Given the description of an element on the screen output the (x, y) to click on. 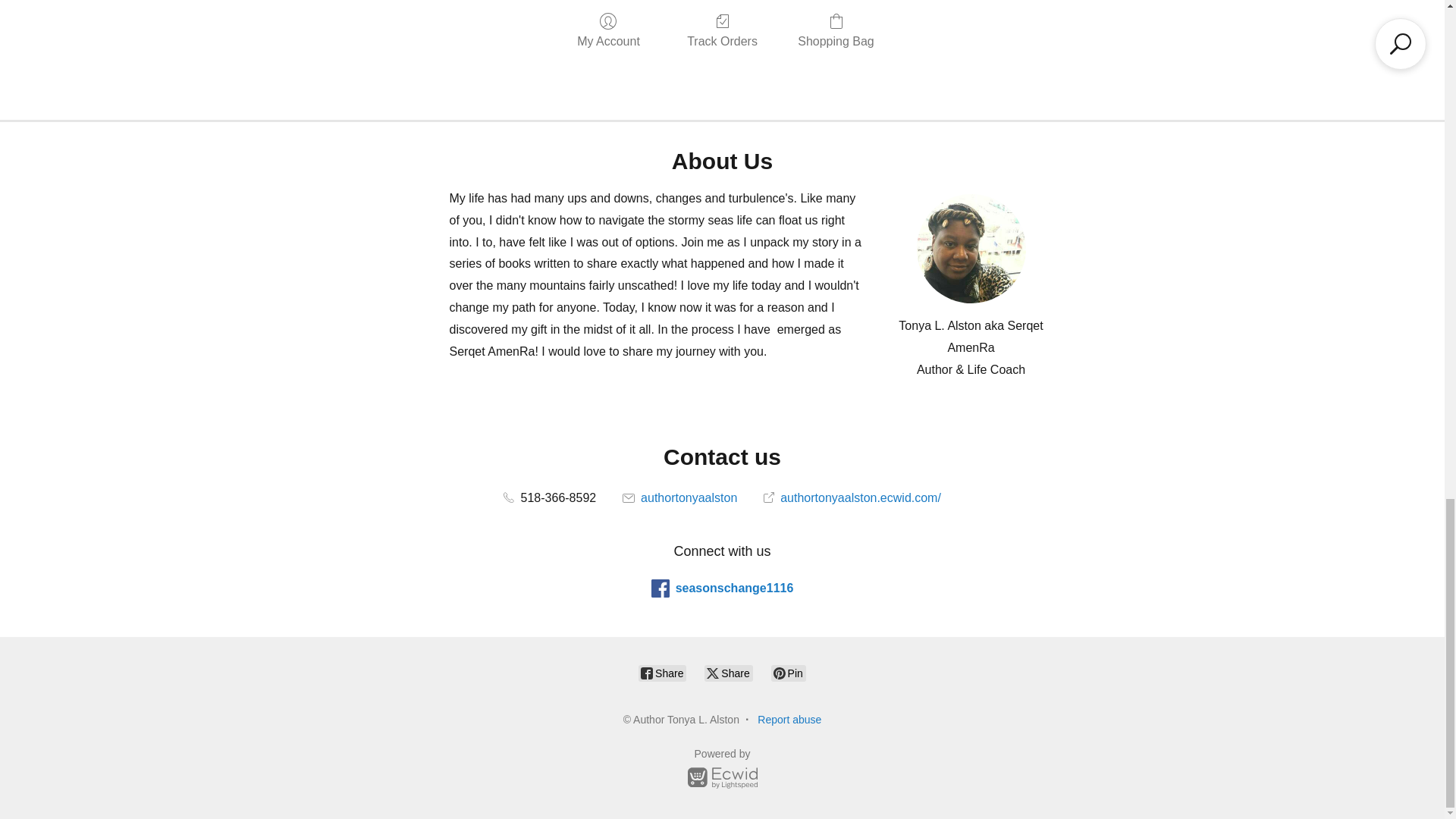
seasonschange1116 (721, 588)
Share (728, 673)
Share (662, 673)
My Account (608, 30)
Powered by (722, 770)
518-366-8592 (549, 497)
authortonyaalston (680, 497)
Shopping Bag (836, 30)
Pin (788, 673)
Report abuse (789, 719)
Track Orders (722, 30)
